Given the description of an element on the screen output the (x, y) to click on. 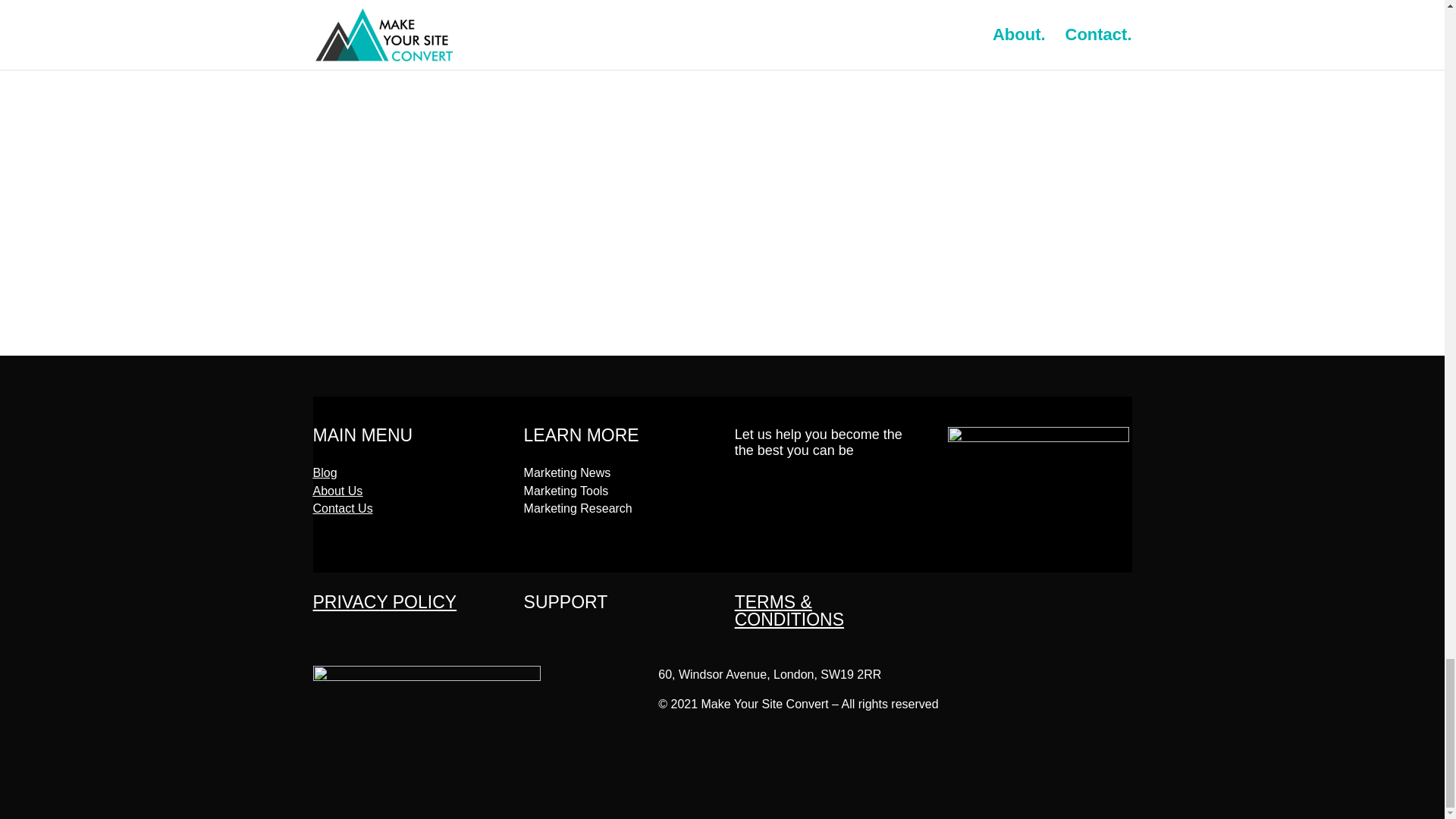
PRIVACY POLICY (385, 601)
Contact Us (342, 508)
About Us (337, 490)
Blog (324, 472)
Privacy Policy (385, 601)
Terms and Conditions (789, 610)
